Given the description of an element on the screen output the (x, y) to click on. 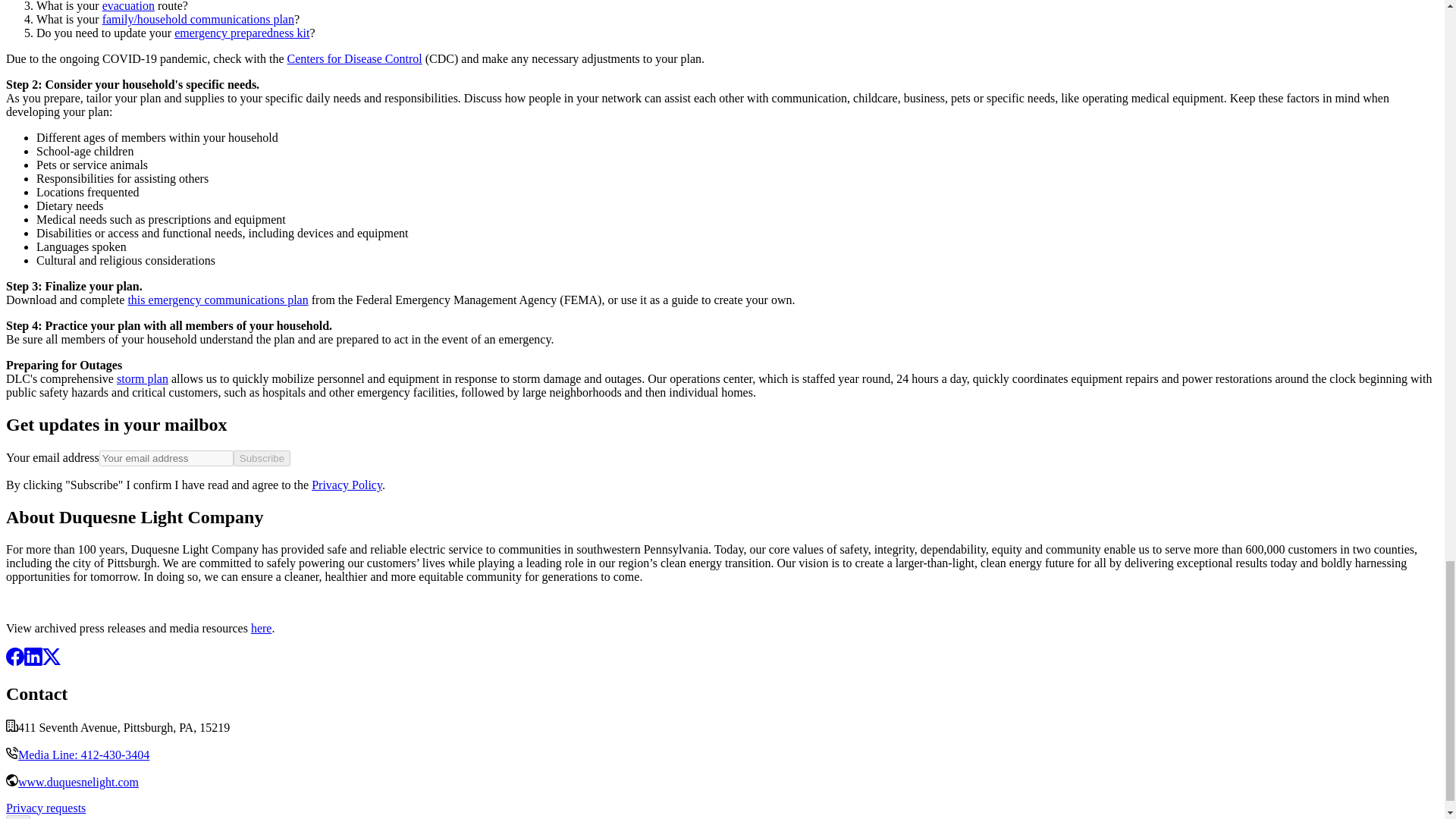
www.duquesnelight.com (77, 781)
Facebook (14, 661)
this emergency communications plan (217, 299)
Centers for Disease Control (354, 58)
emergency preparedness kit (241, 32)
Media Line: 412-430-3404 (83, 754)
Subscribe (260, 458)
here (261, 627)
LinkedIn (33, 661)
storm plan (142, 378)
